Given the description of an element on the screen output the (x, y) to click on. 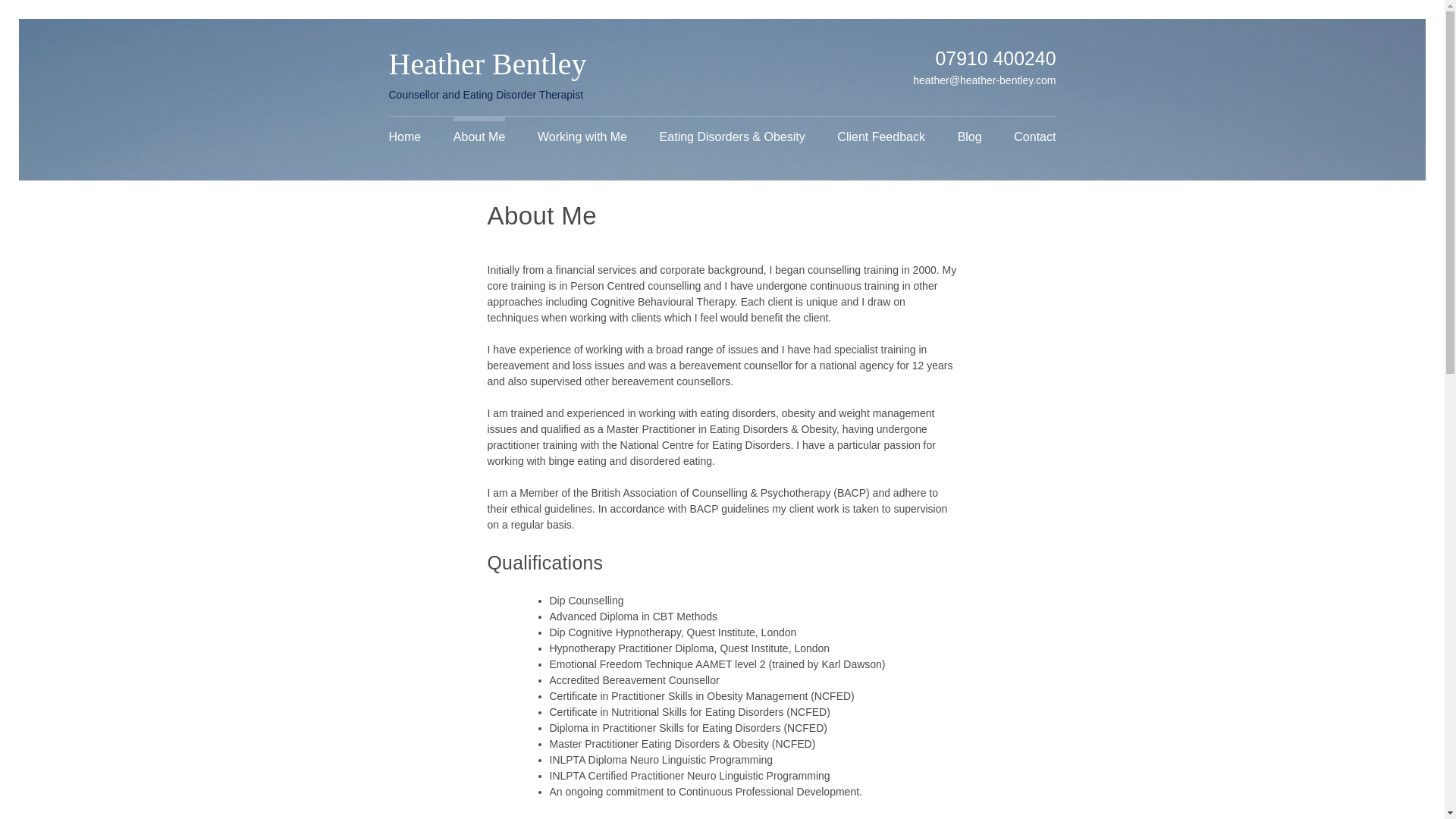
Contact (1035, 137)
Blog (969, 137)
Home (404, 137)
Working with Me (582, 137)
Email Heather (982, 80)
About Me (479, 137)
Heather Bentley (487, 63)
Client Feedback (880, 137)
